Given the description of an element on the screen output the (x, y) to click on. 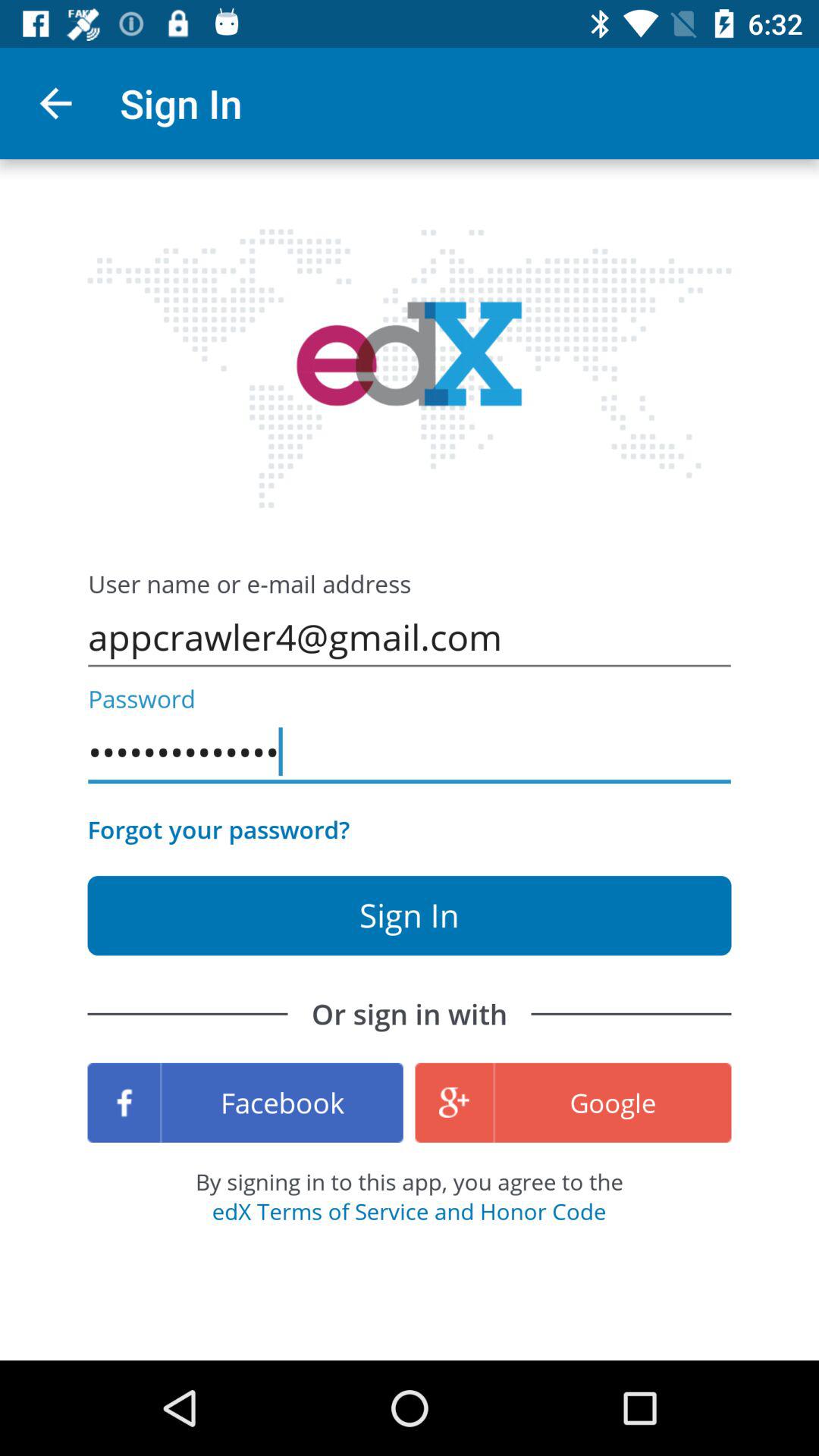
press edx terms of icon (409, 1211)
